Given the description of an element on the screen output the (x, y) to click on. 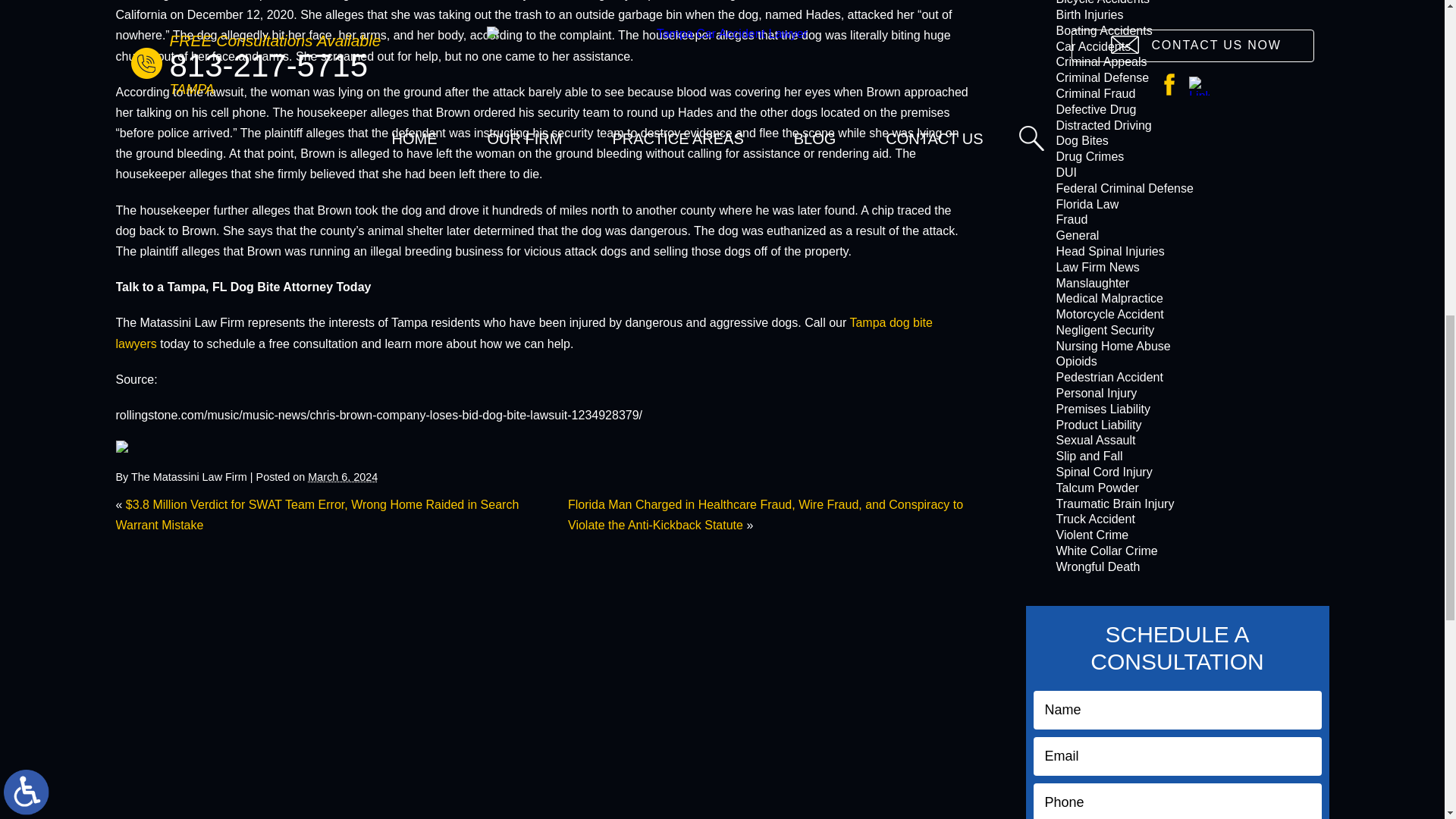
Facebook (121, 446)
2024-03-06T03:00:08-0800 (342, 476)
LinkedIn (142, 446)
Twitter (131, 446)
